Given the description of an element on the screen output the (x, y) to click on. 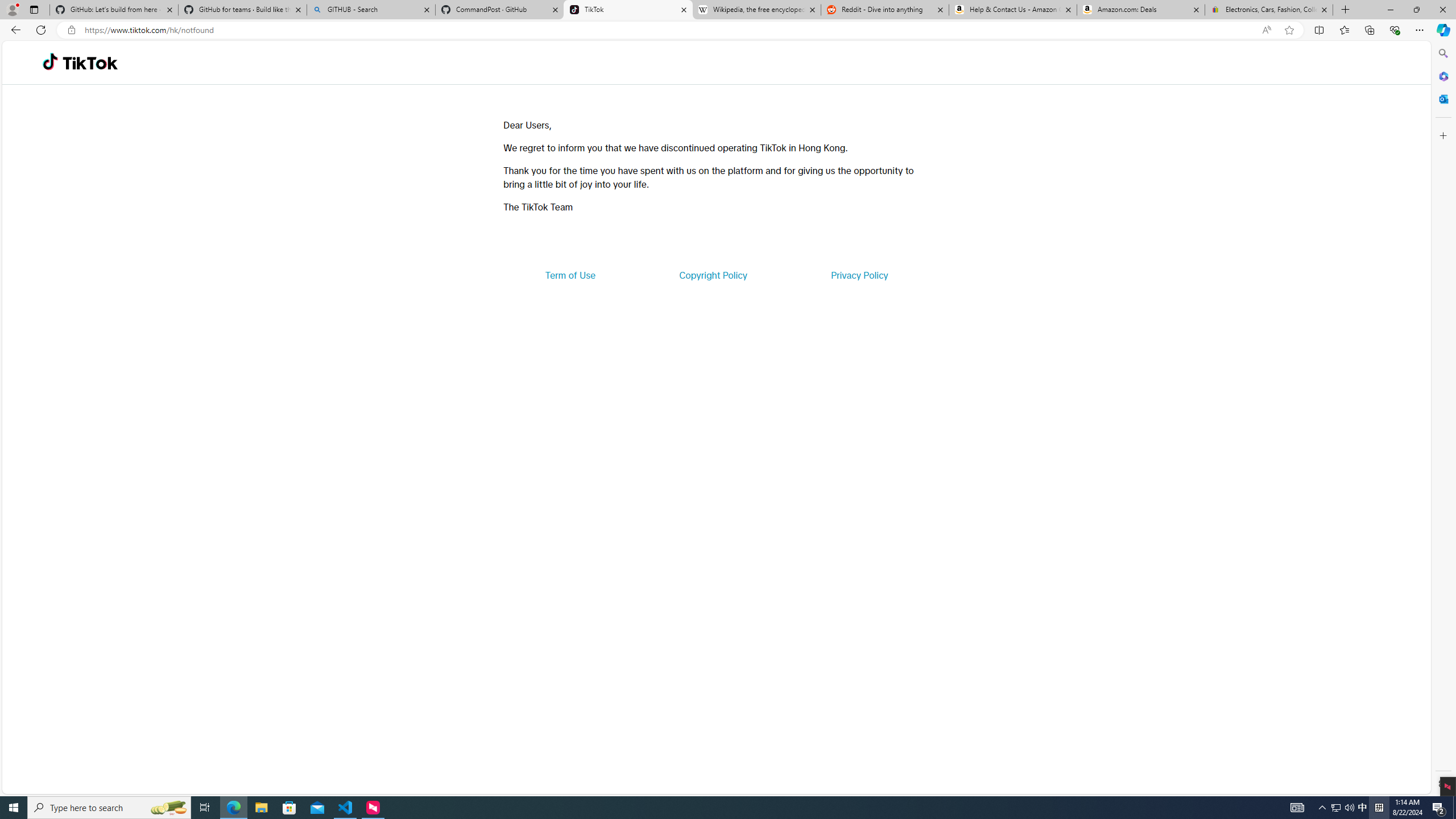
Privacy Policy (858, 274)
TikTok (89, 62)
Term of Use (569, 274)
